Given the description of an element on the screen output the (x, y) to click on. 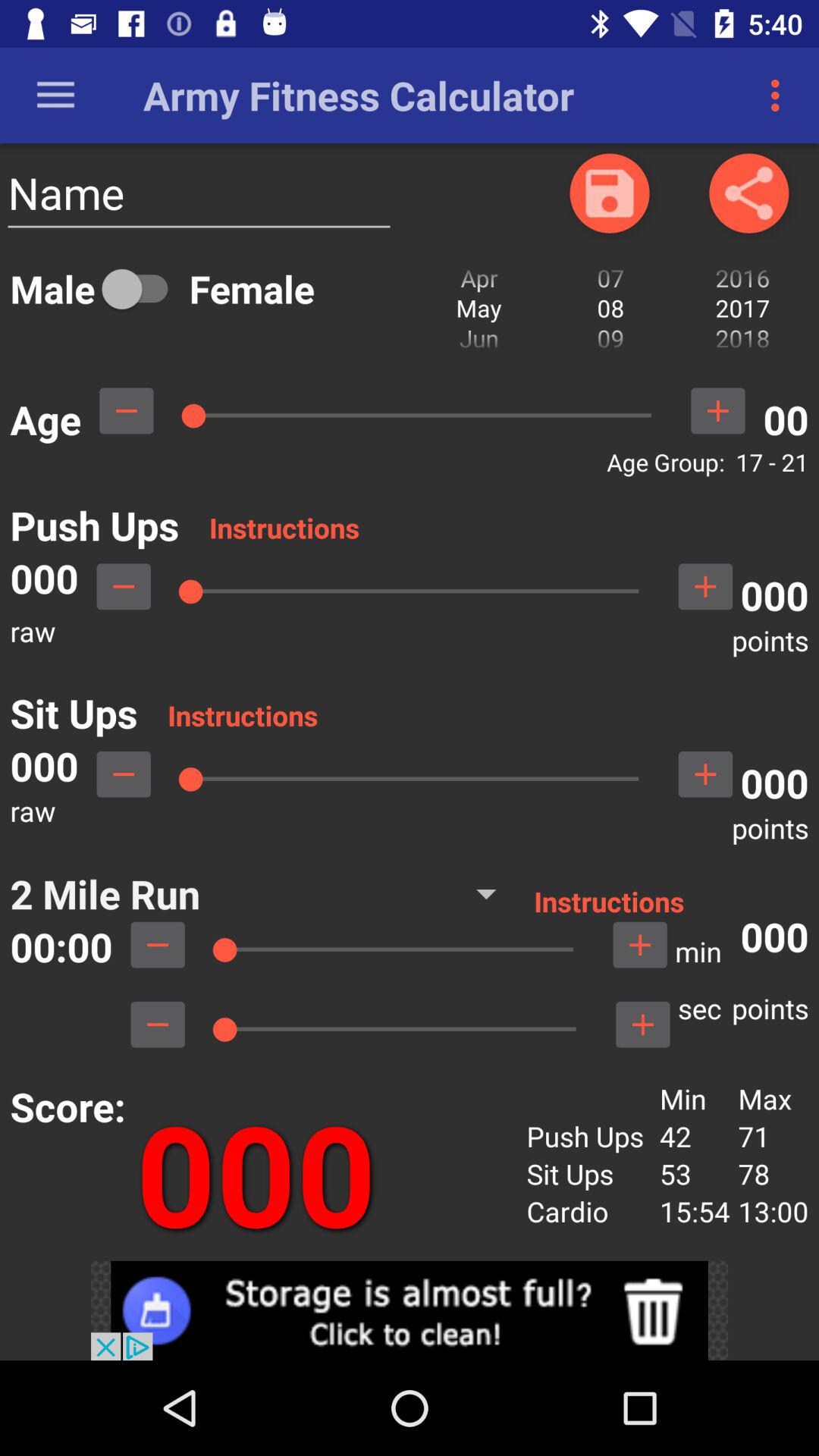
subtract points (157, 1024)
